Given the description of an element on the screen output the (x, y) to click on. 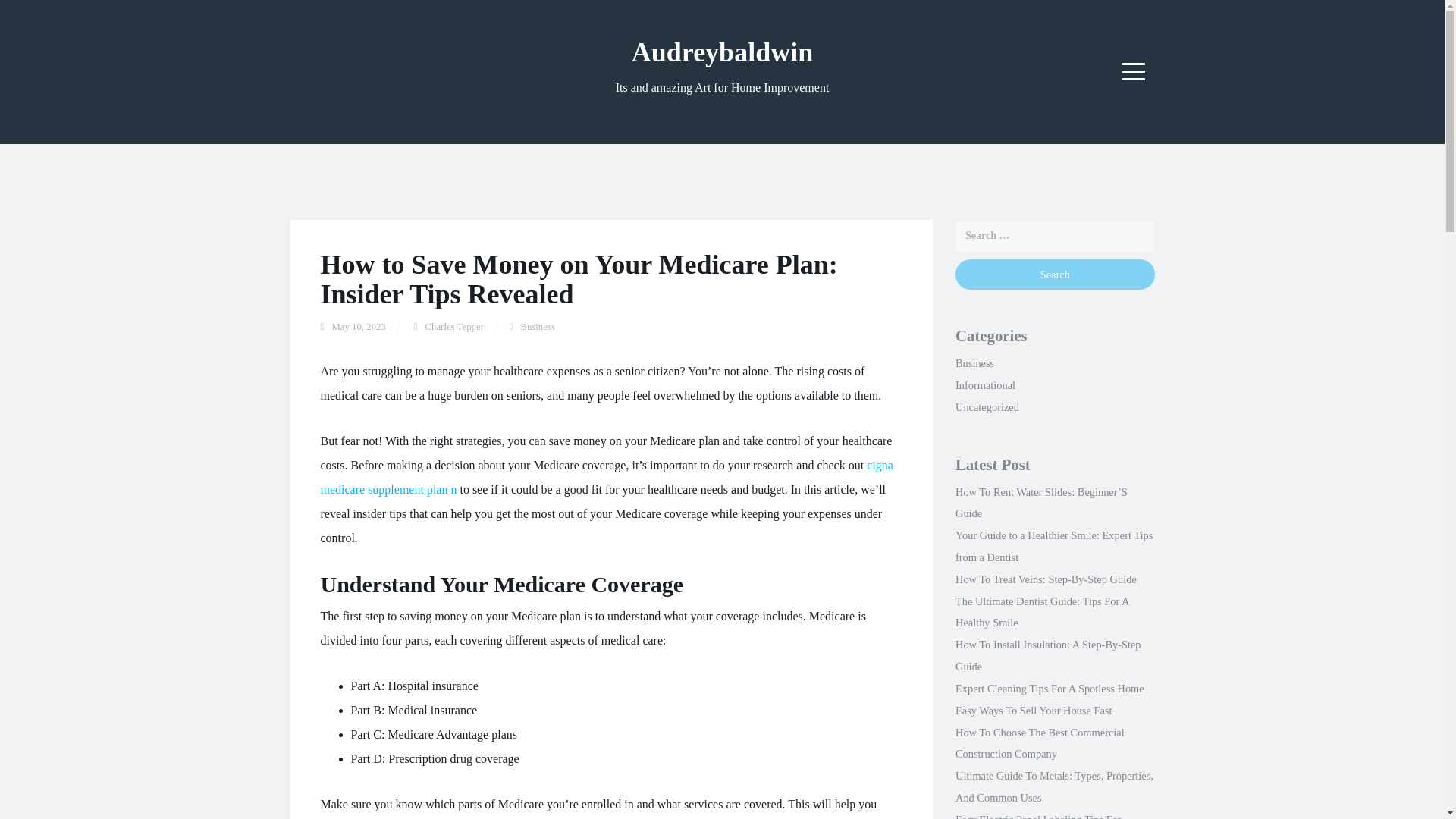
Audreybaldwin (721, 51)
Easy Ways To Sell Your House Fast (1033, 710)
Charles Tepper (454, 326)
Menu (1133, 71)
Business (974, 363)
Informational (984, 385)
May 10, 2023 (358, 326)
How To Treat Veins: Step-By-Step Guide (1046, 579)
Uncategorized (987, 407)
Search (1054, 274)
How To Choose The Best Commercial Construction Company (1039, 743)
Expert Cleaning Tips For A Spotless Home (1049, 688)
The Ultimate Dentist Guide: Tips For A Healthy Smile (1042, 612)
Search (1054, 274)
How To Install Insulation: A Step-By-Step Guide (1048, 655)
